Given the description of an element on the screen output the (x, y) to click on. 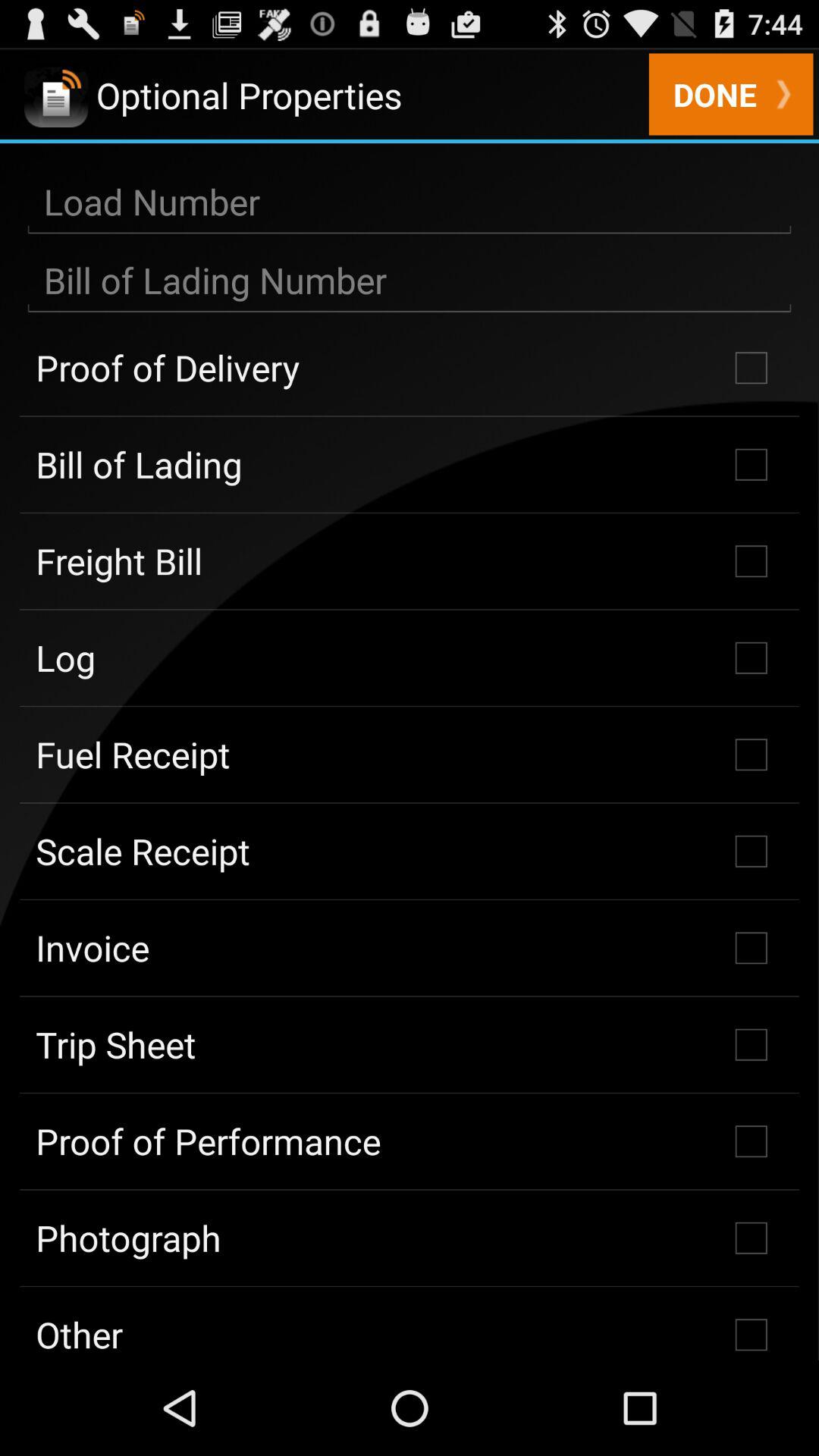
swipe to invoice icon (409, 947)
